Given the description of an element on the screen output the (x, y) to click on. 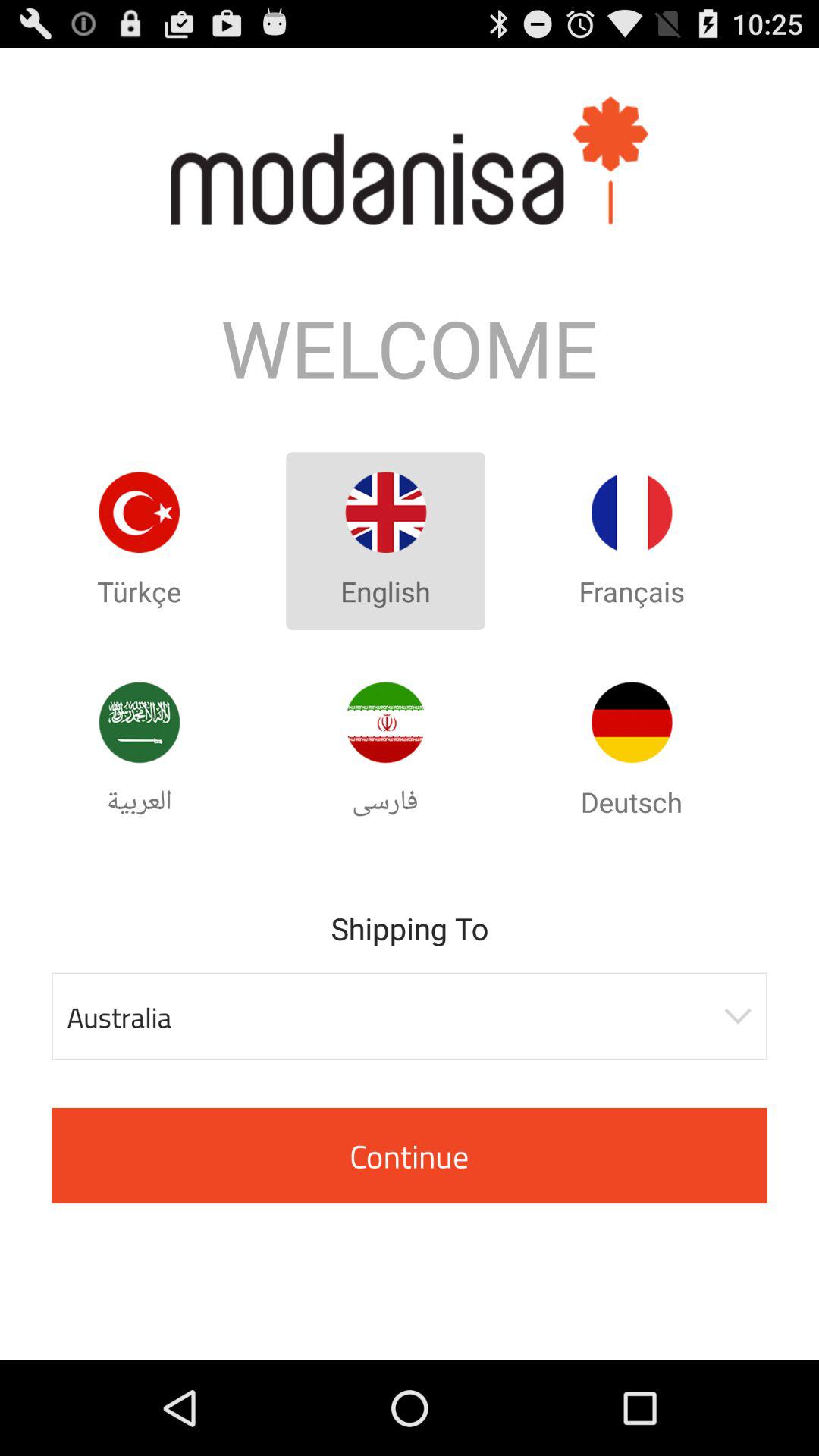
launch the continue icon (409, 1155)
